Given the description of an element on the screen output the (x, y) to click on. 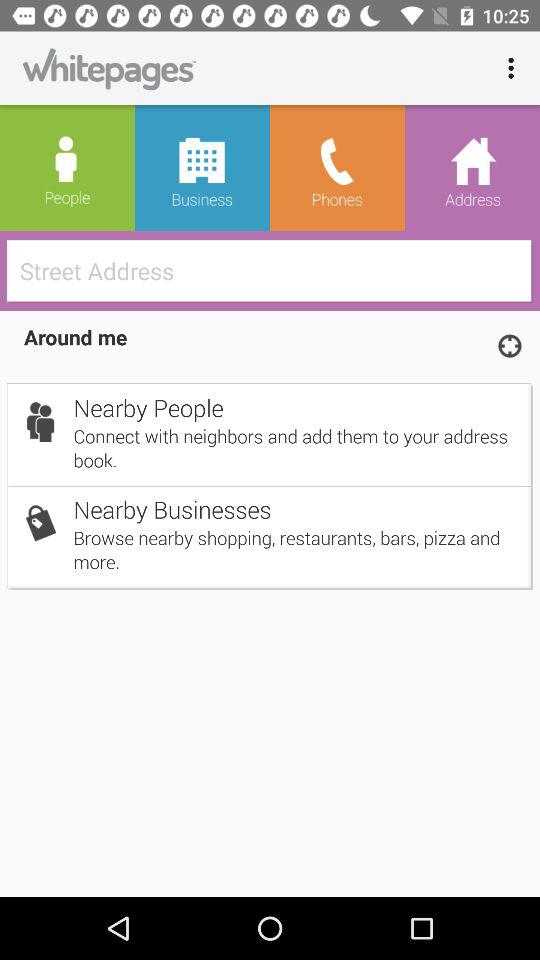
turn on item to the right of around me item (509, 345)
